Given the description of an element on the screen output the (x, y) to click on. 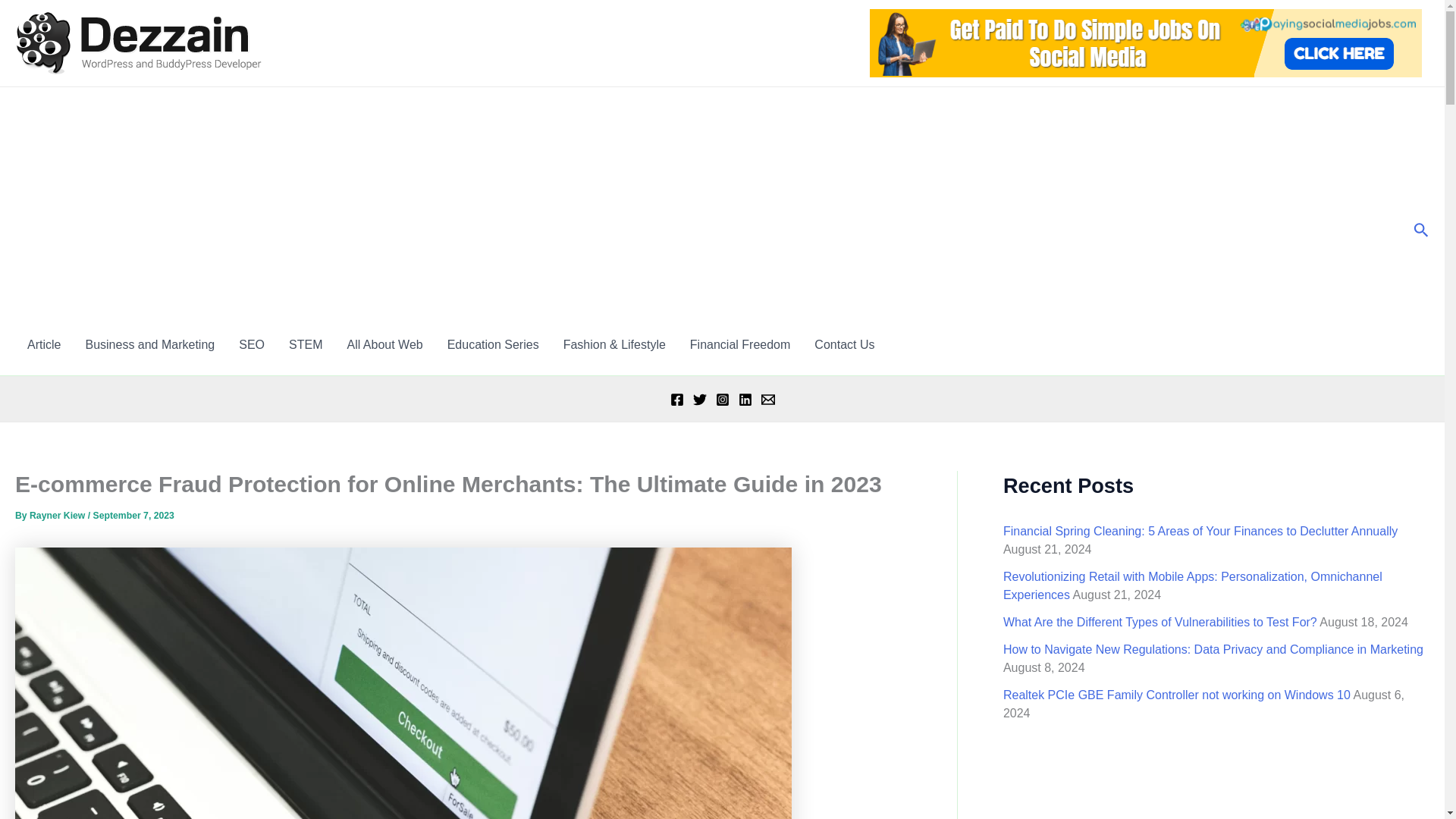
Financial Freedom (740, 344)
STEM (305, 344)
View all posts by Rayner Kiew (58, 515)
Education Series (493, 344)
All About Web (383, 344)
Article (43, 344)
Rayner Kiew (58, 515)
Business and Marketing (149, 344)
Contact Us (844, 344)
any inquiries? (844, 344)
